Given the description of an element on the screen output the (x, y) to click on. 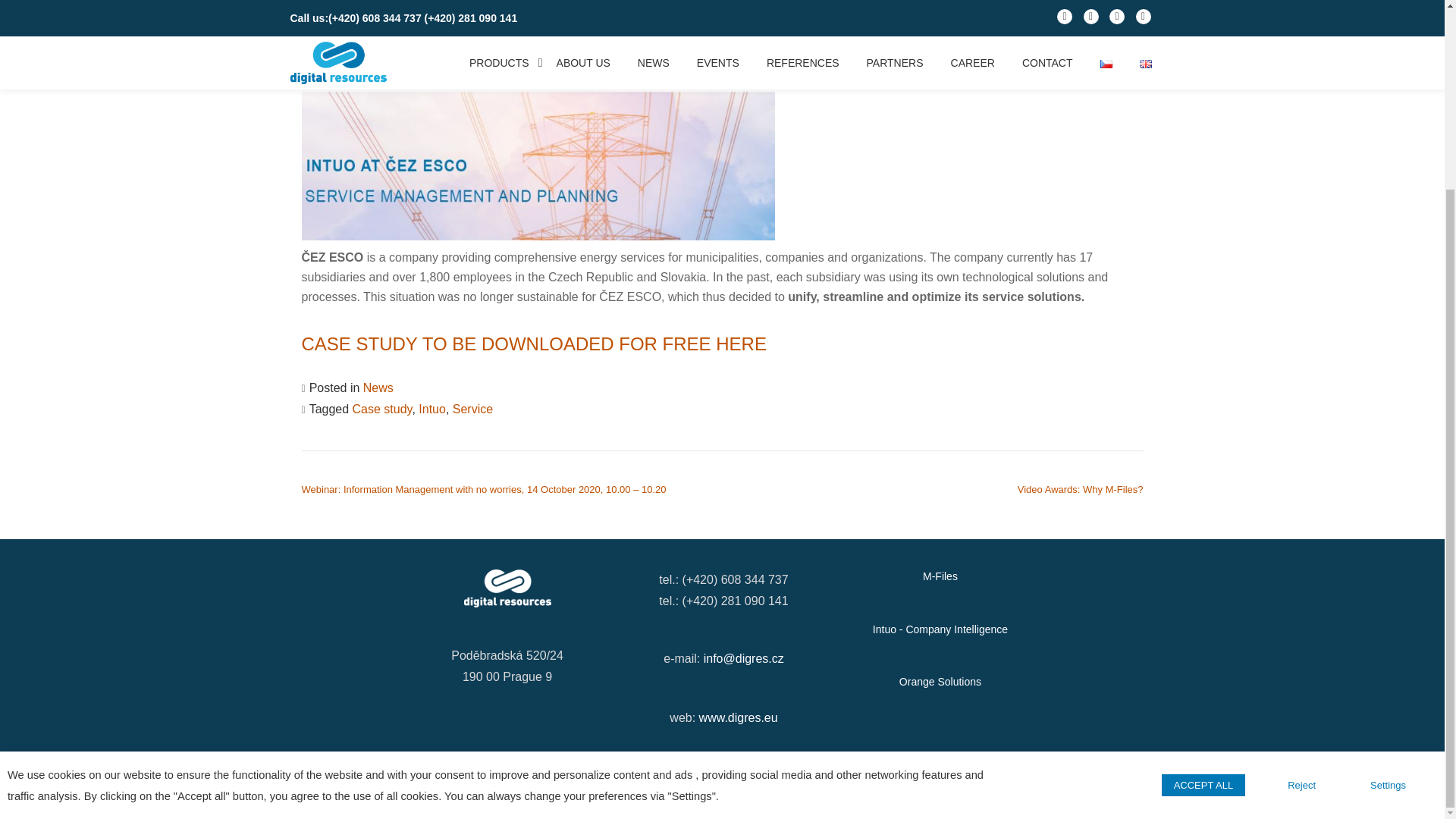
Orange Solutions (940, 681)
Intuo (432, 408)
Service (472, 408)
Video Awards: Why M-Files? (1079, 489)
News (377, 387)
Case study (382, 408)
ACCEPT ALL (1203, 548)
M-Files (940, 576)
Intuo - Company Intelligence (939, 629)
CASE STUDY TO BE DOWNLOADED FOR FREE HERE (534, 343)
